Given the description of an element on the screen output the (x, y) to click on. 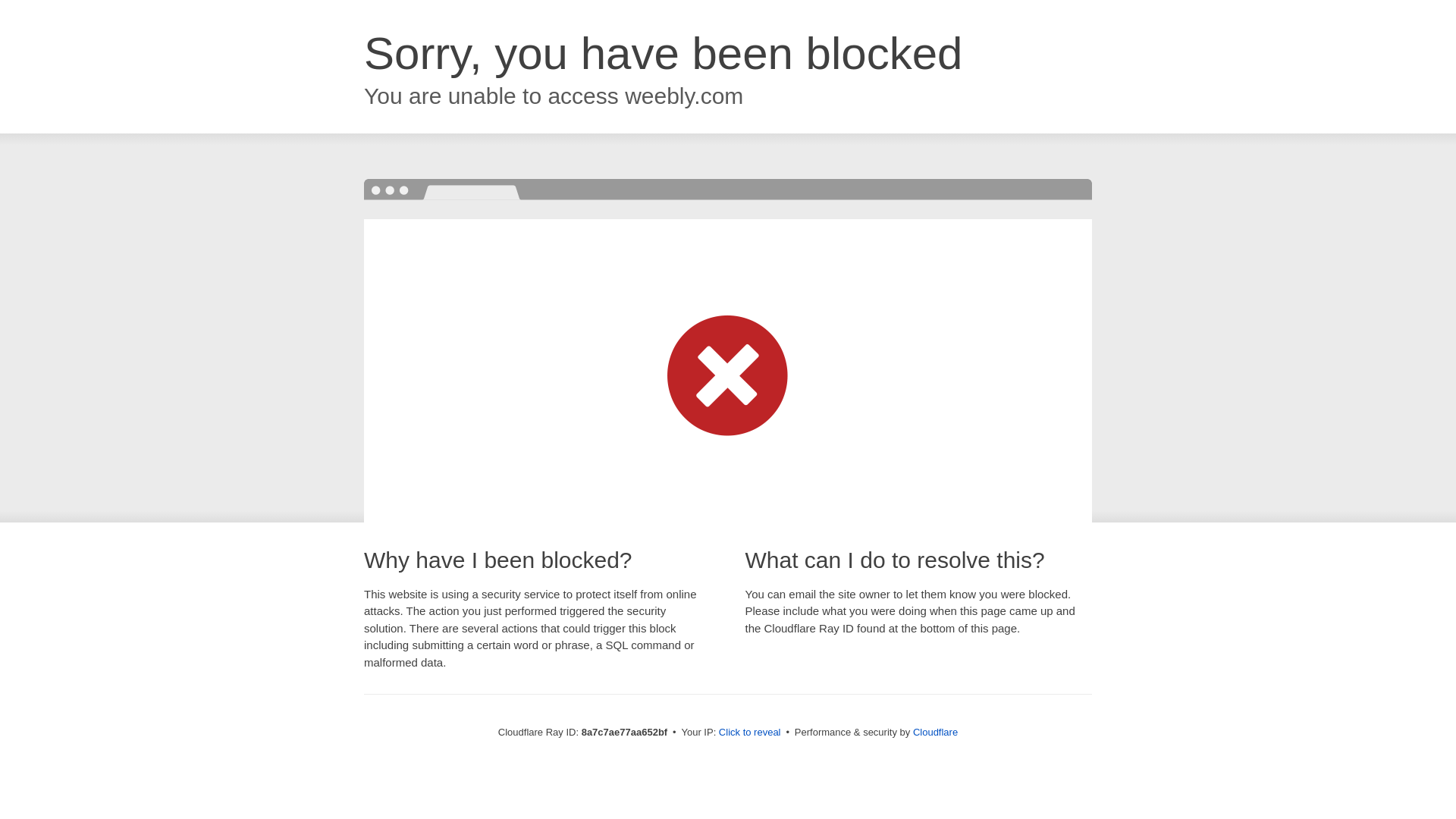
Cloudflare (935, 731)
Click to reveal (749, 732)
